Given the description of an element on the screen output the (x, y) to click on. 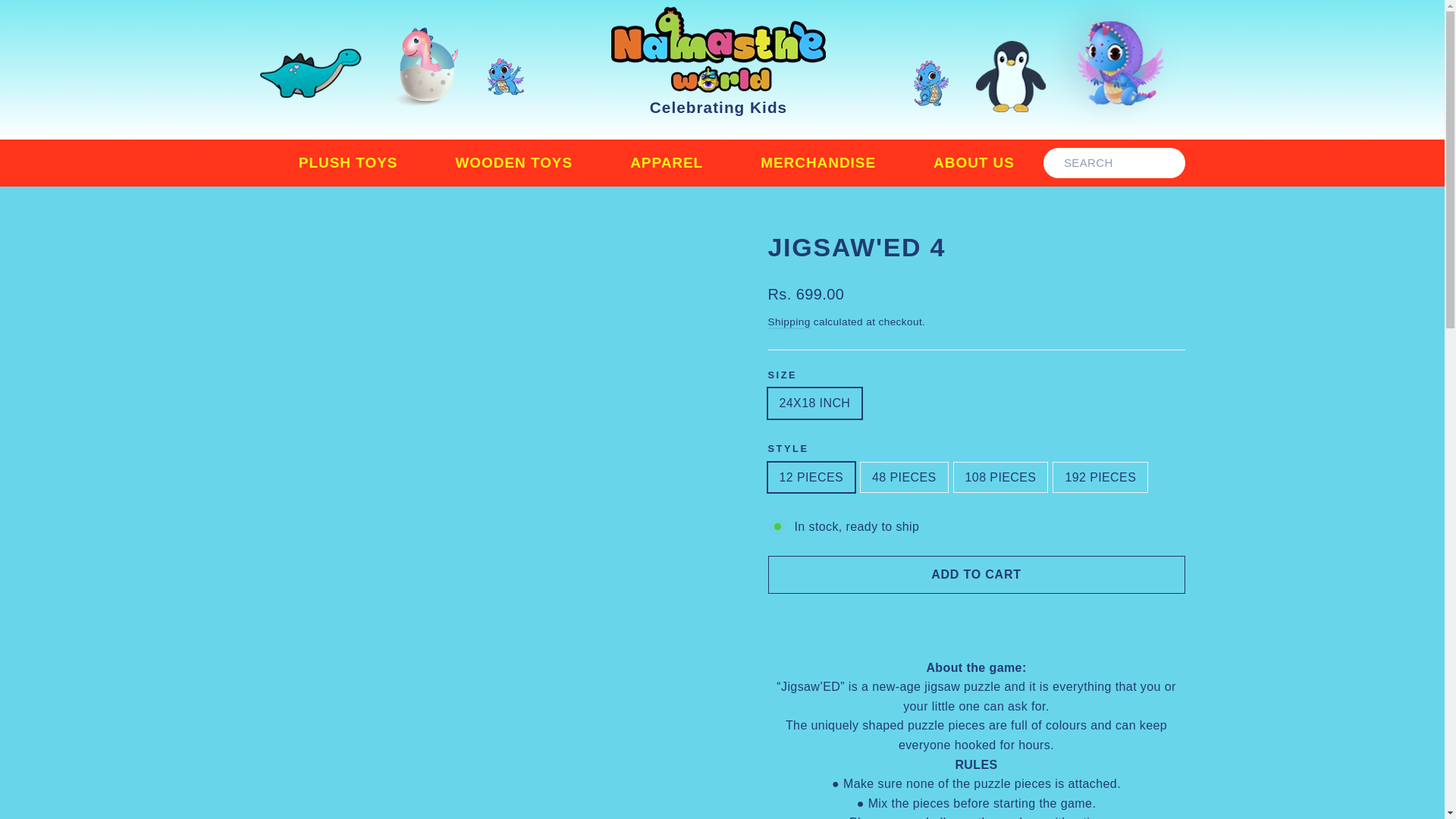
APPAREL (665, 163)
WOODEN TOYS (513, 163)
MERCHANDISE (818, 163)
ABOUT US (973, 163)
ADD TO CART (976, 574)
Shipping (788, 322)
PLUSH TOYS (348, 163)
